Given the description of an element on the screen output the (x, y) to click on. 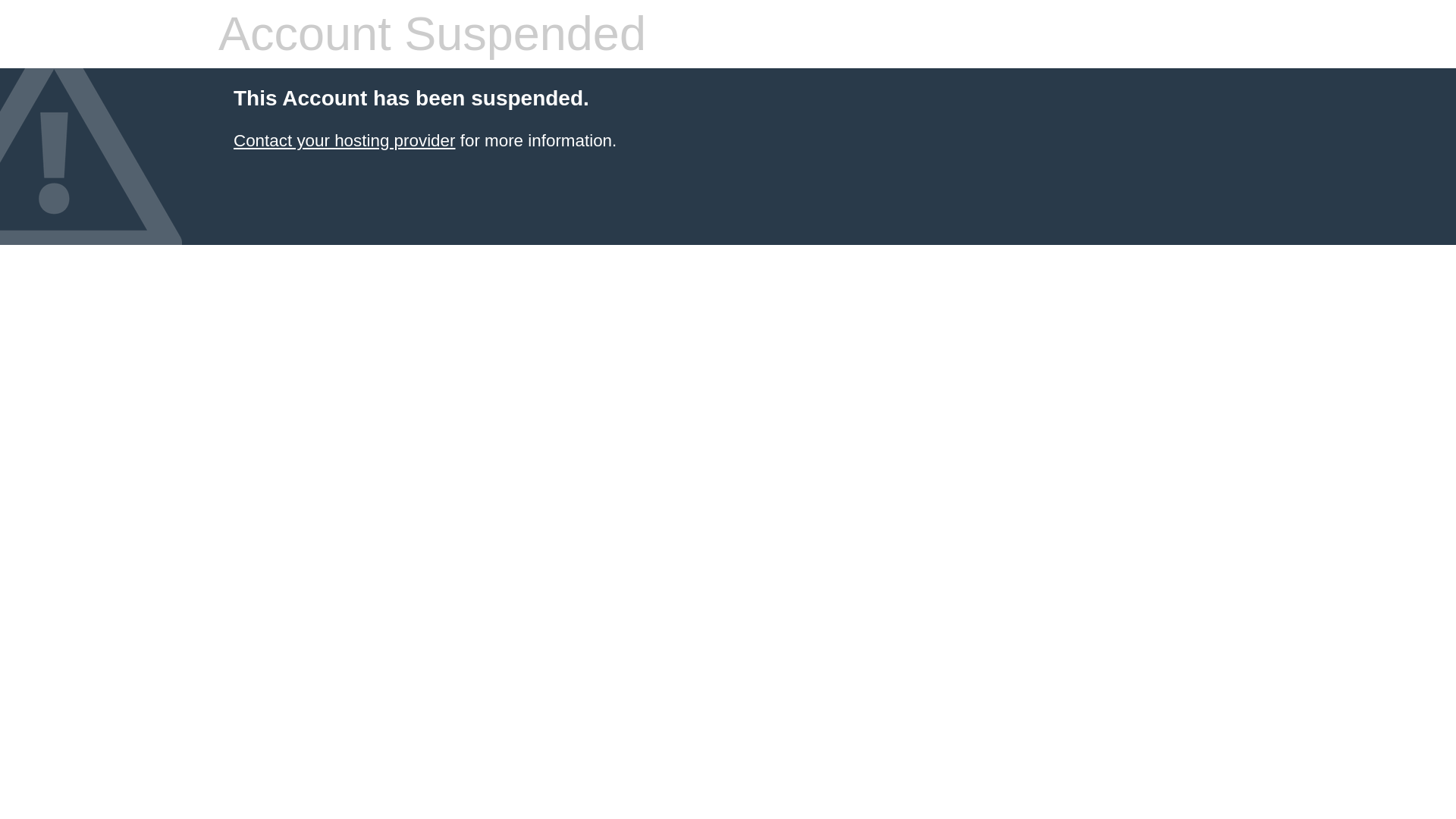
Contact your hosting provider (343, 140)
